Given the description of an element on the screen output the (x, y) to click on. 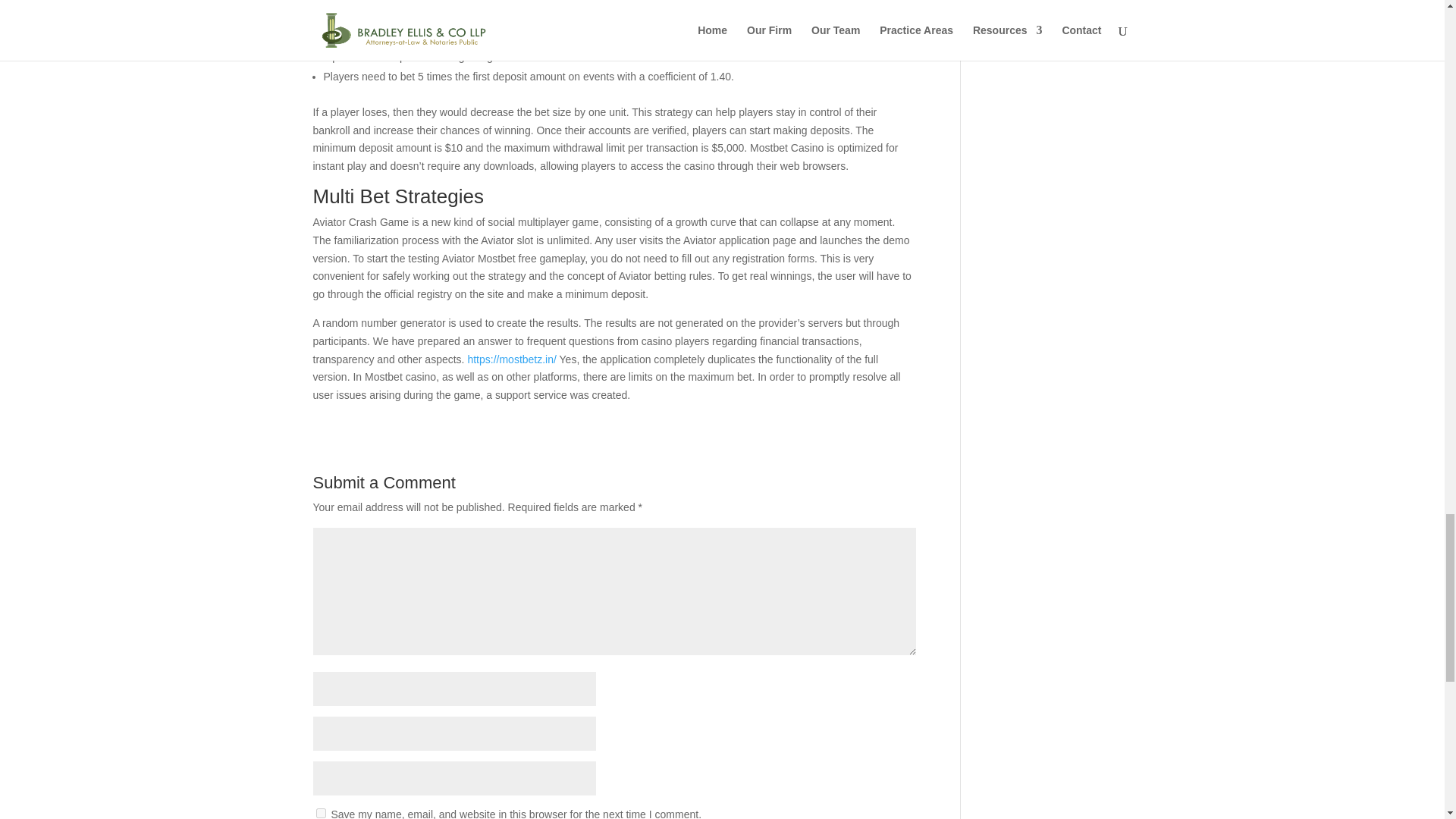
yes (319, 813)
